Given the description of an element on the screen output the (x, y) to click on. 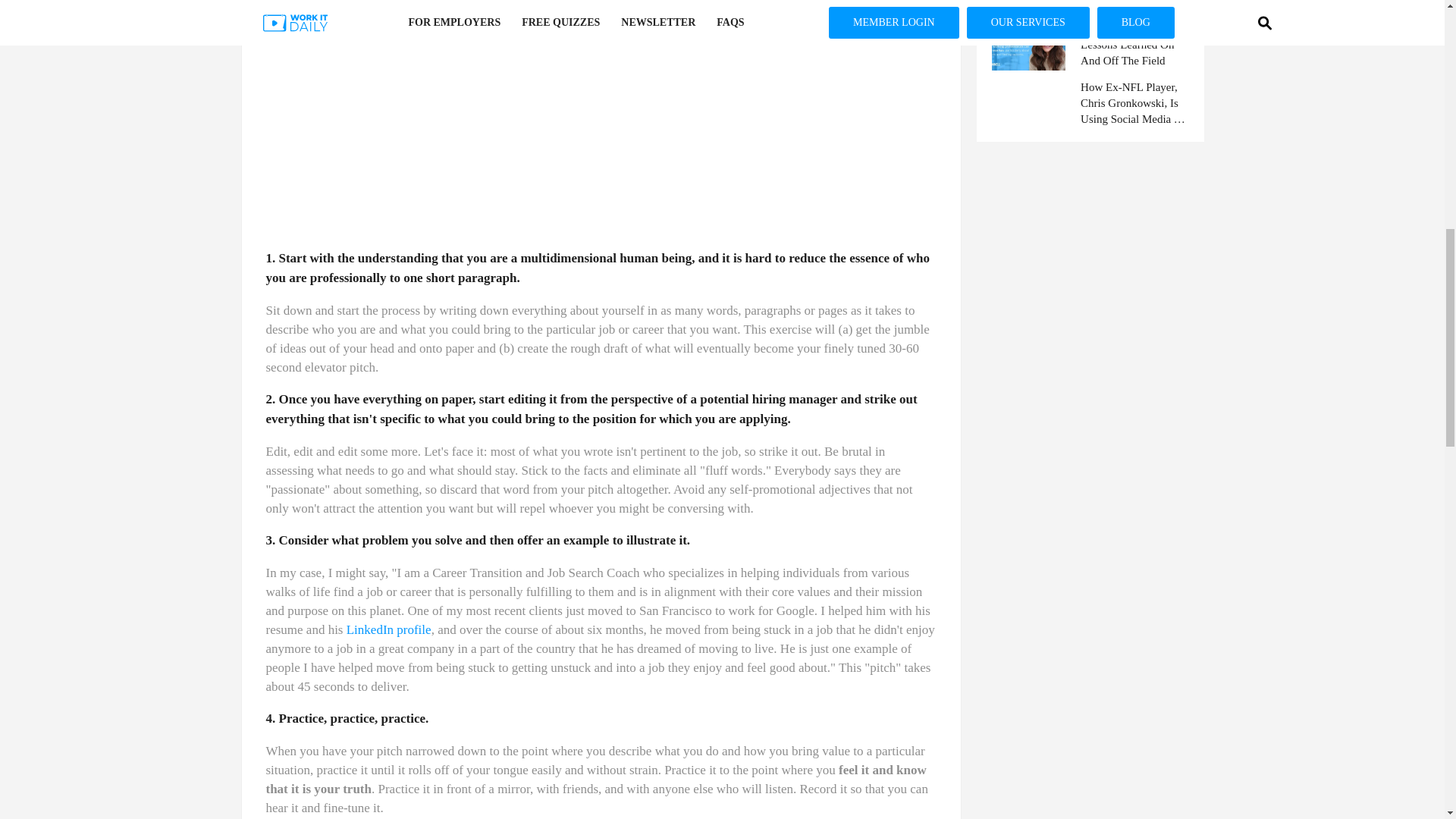
LinkedIn profile (388, 629)
